Given the description of an element on the screen output the (x, y) to click on. 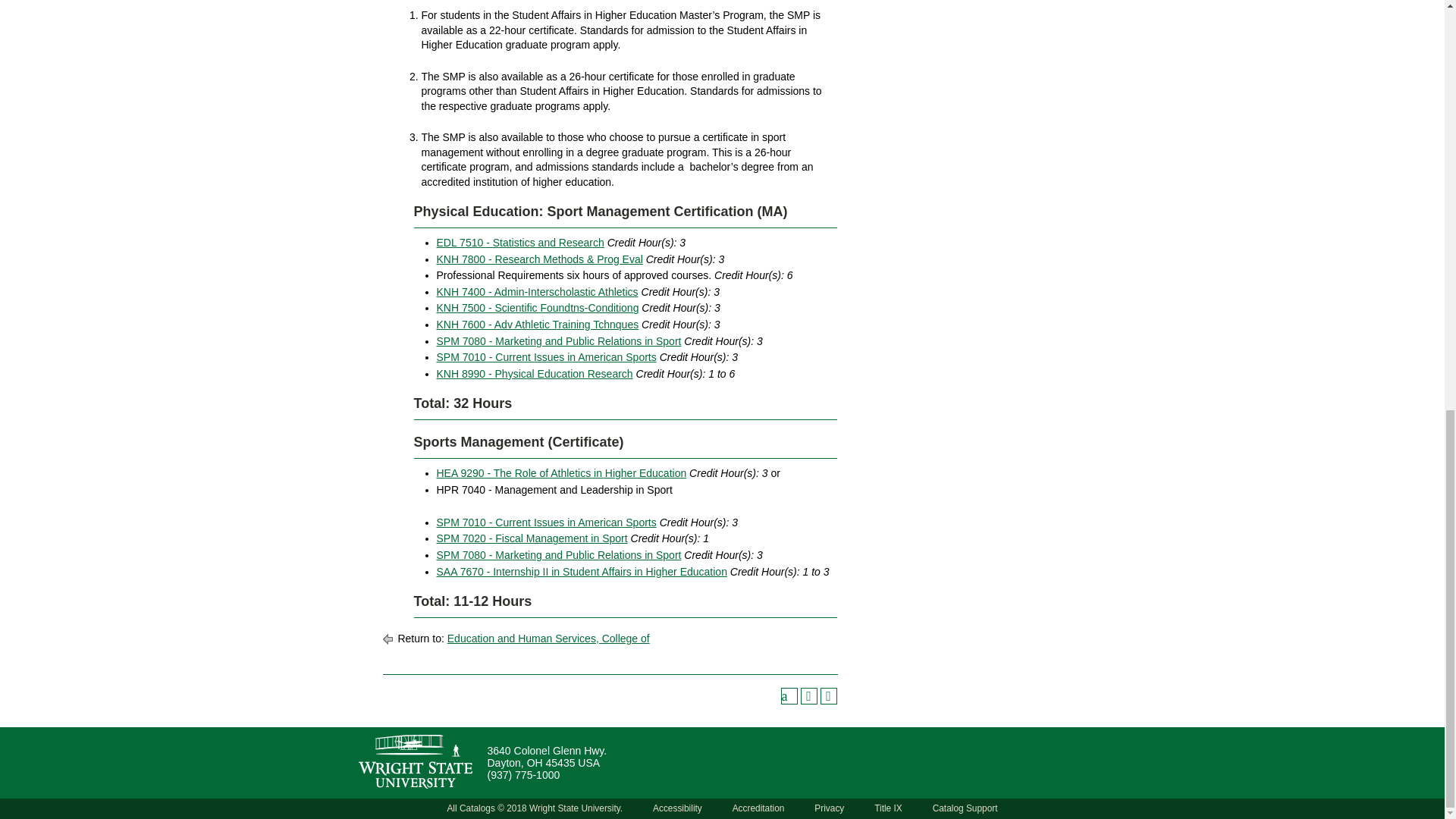
SPM 7020 - Fiscal Management in Sport (531, 538)
KNH 7500 - Scientific Foundtns-Conditiong (537, 307)
HEA 9290 - The Role of Athletics in Higher Education (561, 472)
SPM 7080 - Marketing and Public Relations in Sport (558, 554)
KNH 7600 - Adv Athletic Training Tchnques (537, 324)
EDL 7510 - Statistics and Research (520, 242)
KNH 8990 - Physical Education Research (534, 373)
SPM 7010 - Current Issues in American Sports (546, 522)
SPM 7010 - Current Issues in American Sports (546, 357)
KNH 7400 - Admin-Interscholastic Athletics (537, 291)
SPM 7080 - Marketing and Public Relations in Sport (558, 340)
